Given the description of an element on the screen output the (x, y) to click on. 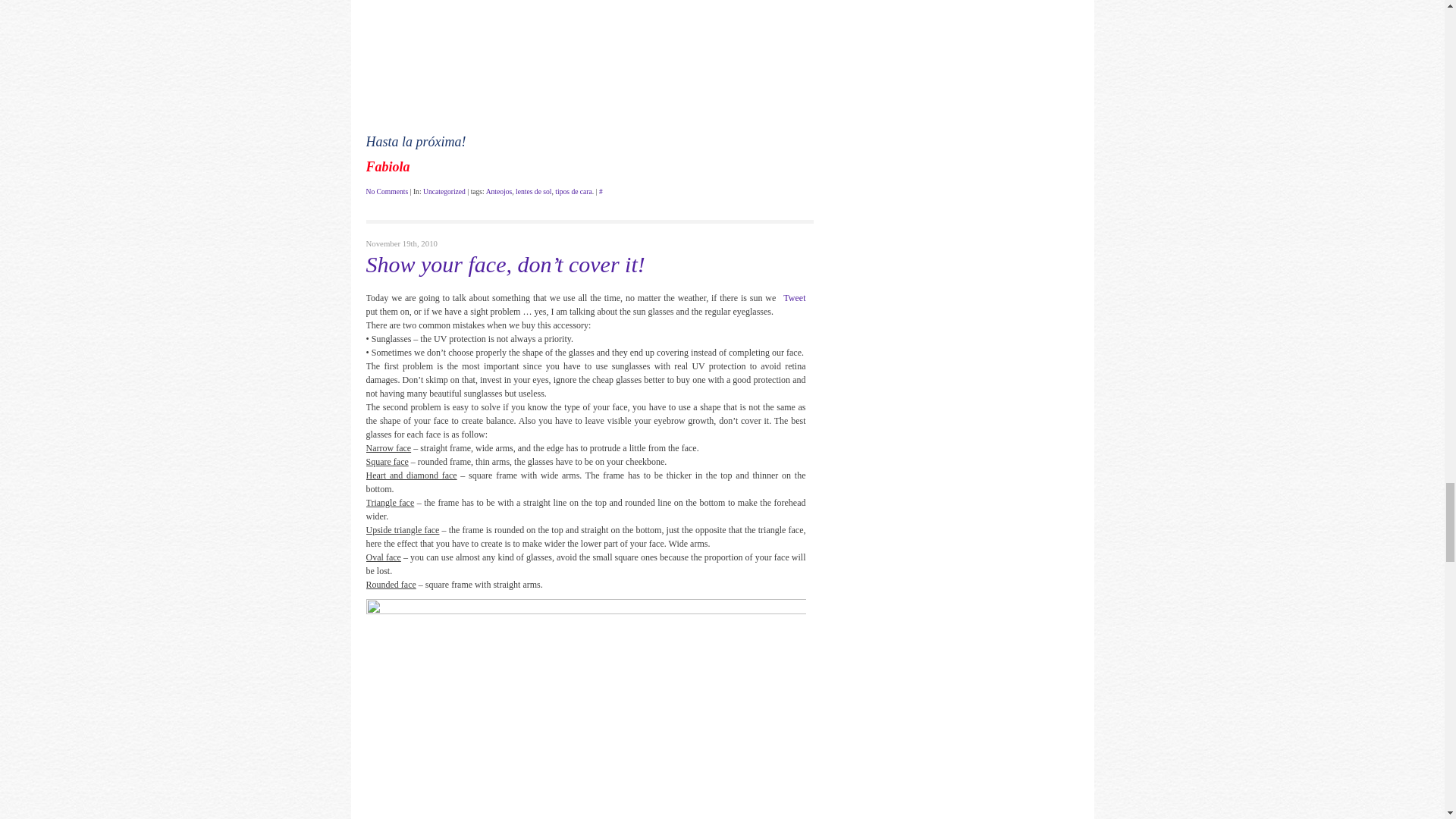
Picture 73 (585, 61)
Uncategorized (444, 191)
No Comments (386, 191)
lentes de sol (533, 191)
tipos de cara (572, 191)
Anteojos (499, 191)
